Given the description of an element on the screen output the (x, y) to click on. 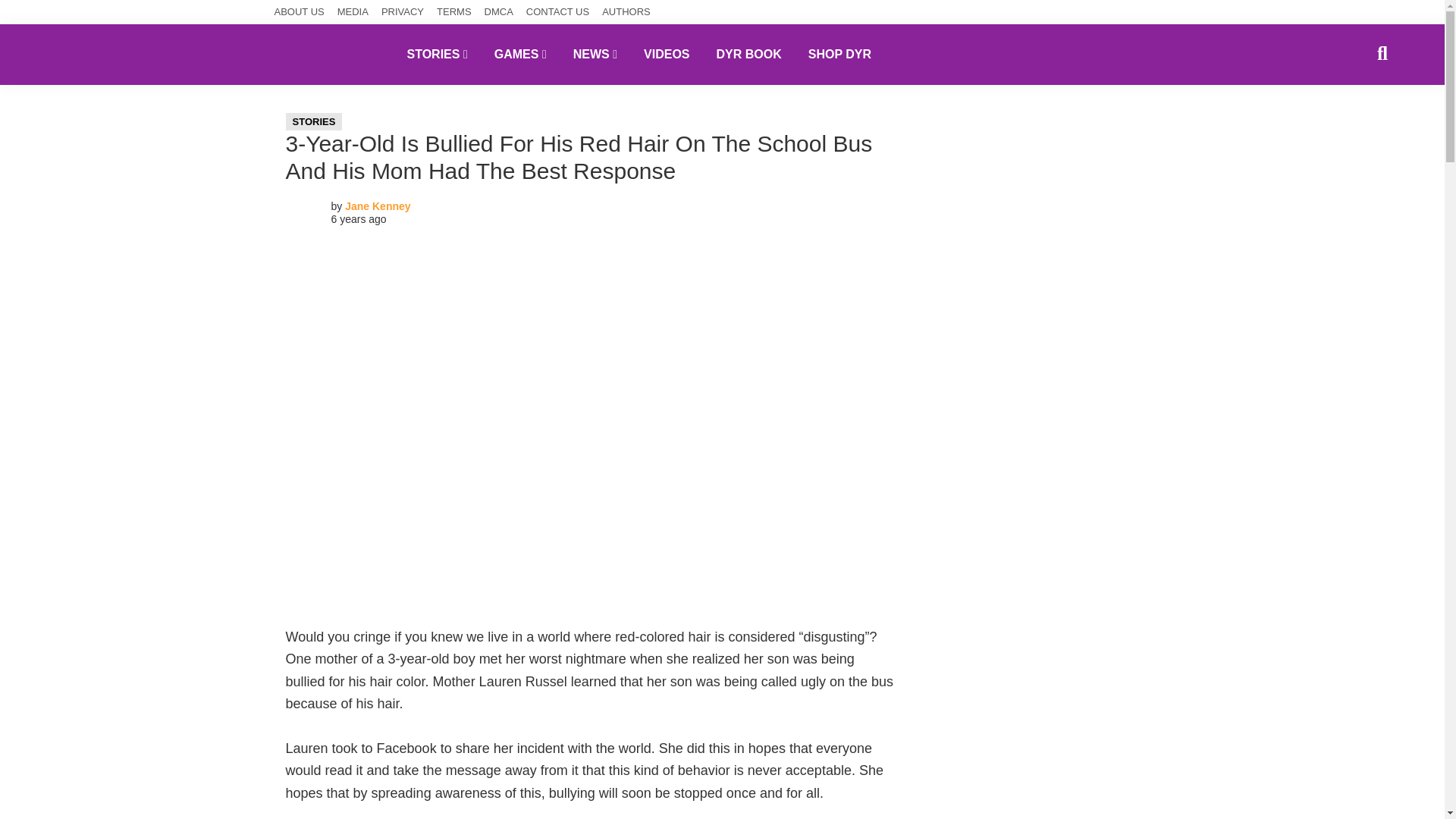
NEWS (595, 54)
DMCA (498, 12)
Jane Kenney (377, 205)
STORIES (314, 121)
VIDEOS (665, 54)
TERMS (453, 12)
STORIES (437, 54)
MEDIA (352, 12)
ABOUT US (299, 12)
AUTHORS (626, 12)
